Given the description of an element on the screen output the (x, y) to click on. 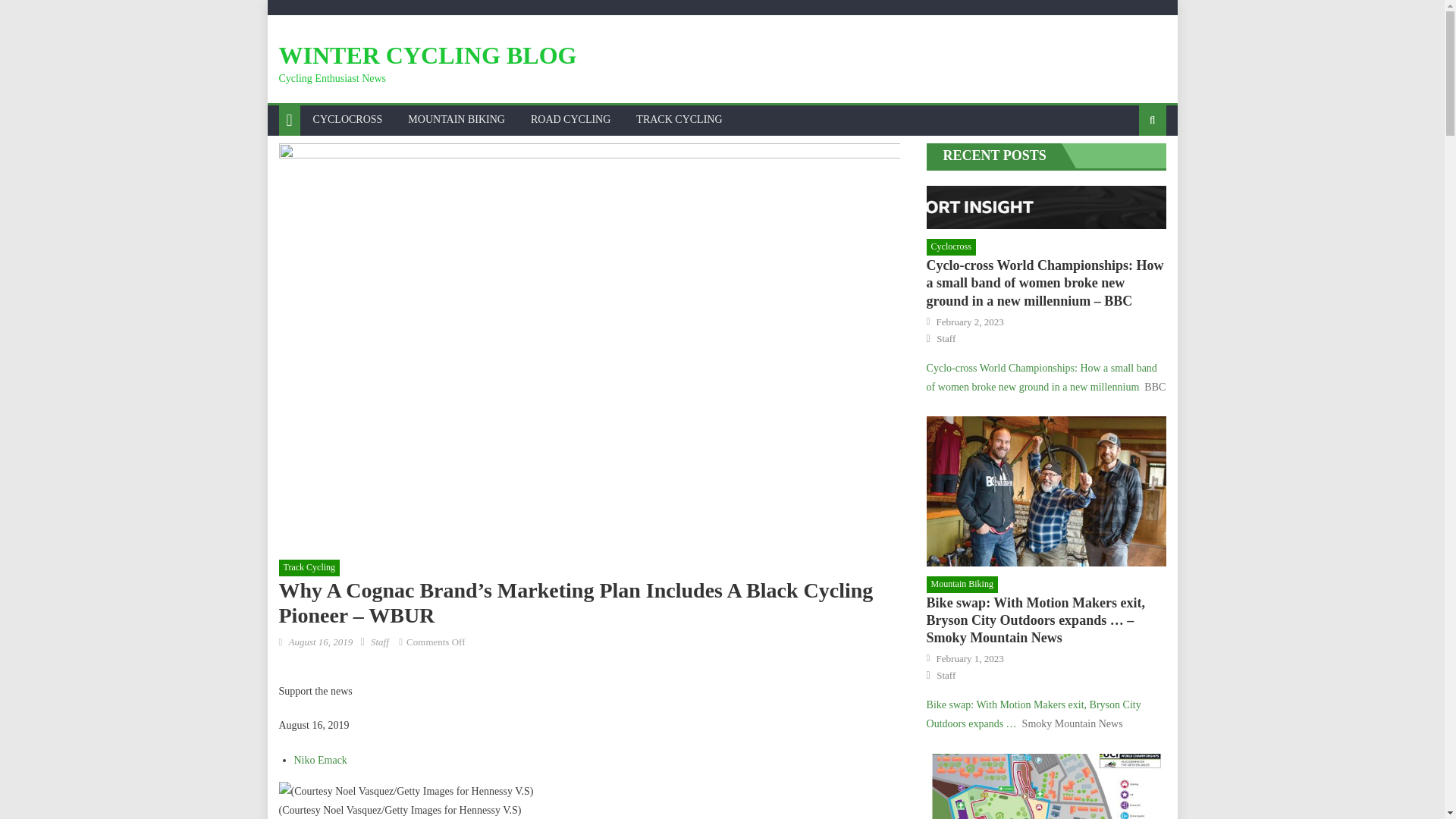
August 16, 2019 (320, 641)
Skip to content (298, 9)
TRACK CYCLING (678, 119)
Staff (379, 641)
CYCLOCROSS (347, 119)
Search (1128, 169)
Niko Emack (320, 759)
ROAD CYCLING (570, 119)
Track Cycling (309, 567)
MOUNTAIN BIKING (456, 119)
